Given the description of an element on the screen output the (x, y) to click on. 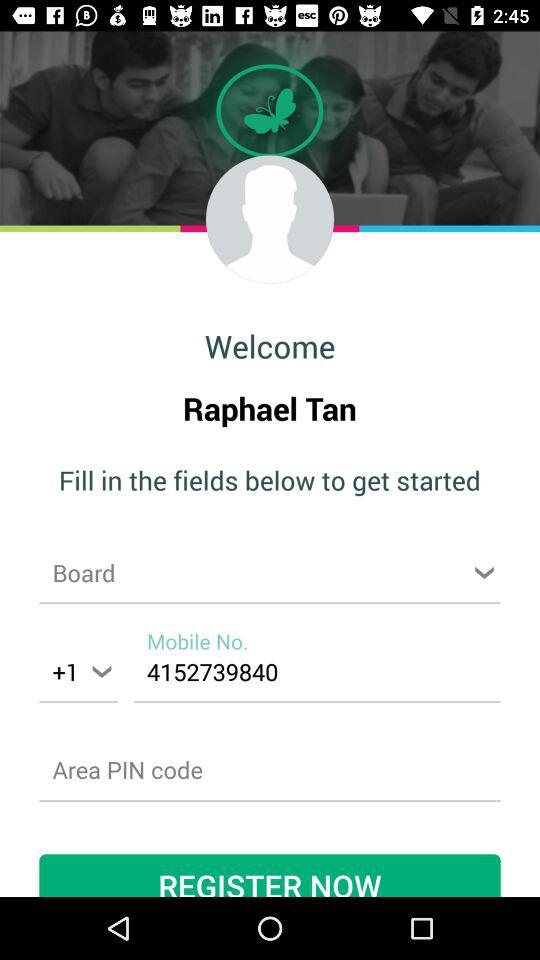
button page (269, 770)
